Given the description of an element on the screen output the (x, y) to click on. 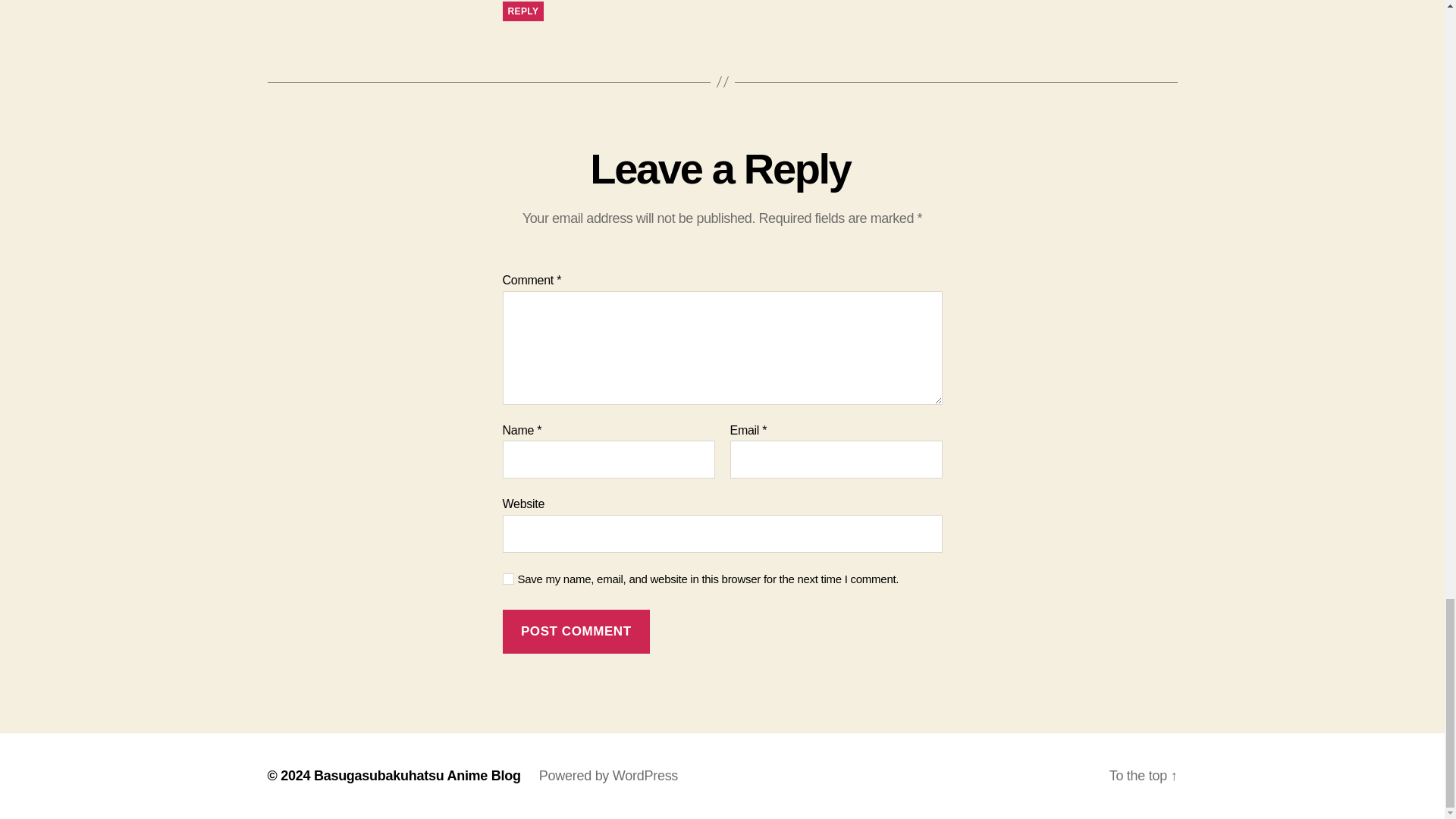
yes (507, 578)
Post Comment (575, 631)
REPLY (522, 11)
